Given the description of an element on the screen output the (x, y) to click on. 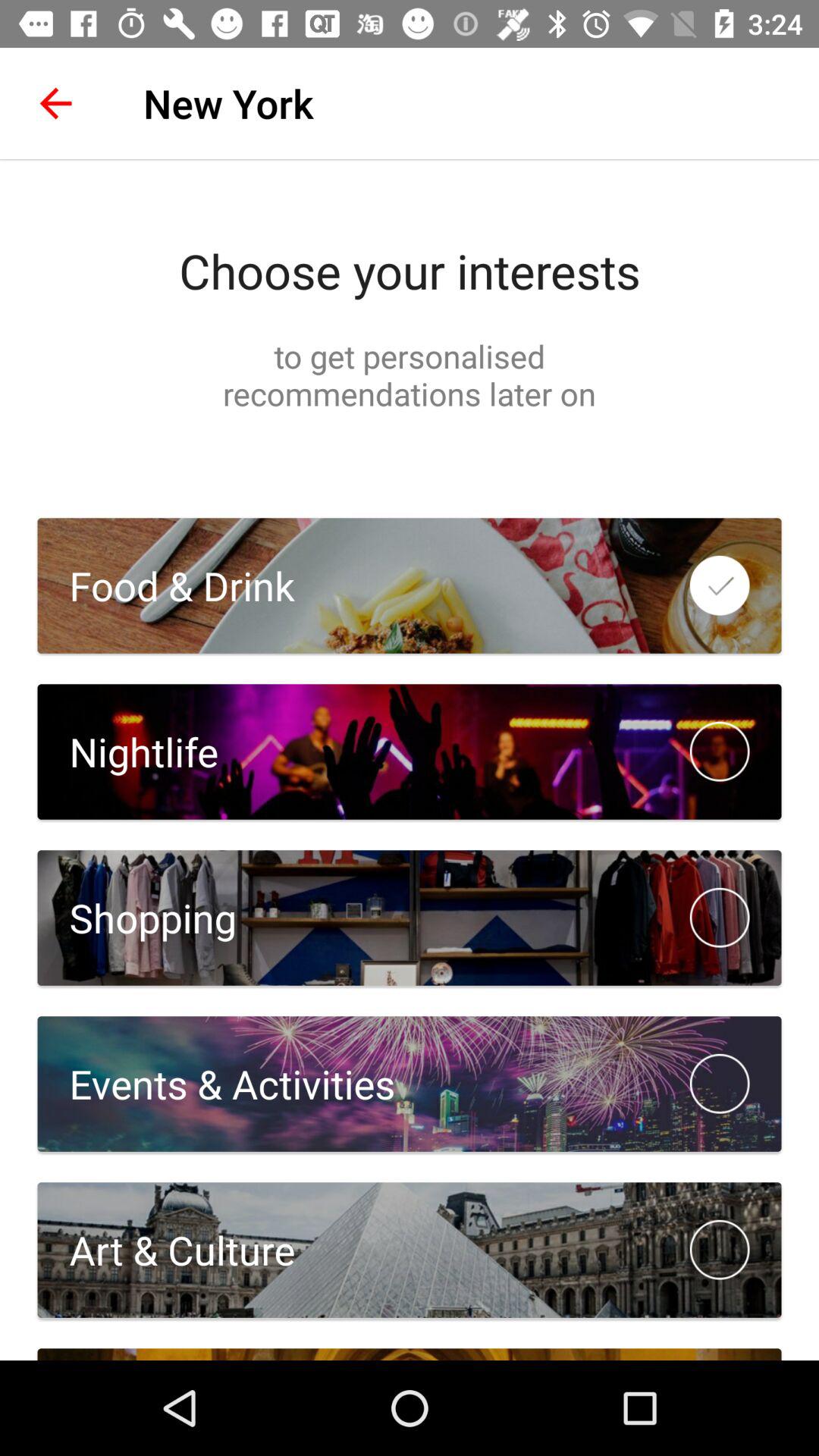
scroll to the food & drink (165, 585)
